Given the description of an element on the screen output the (x, y) to click on. 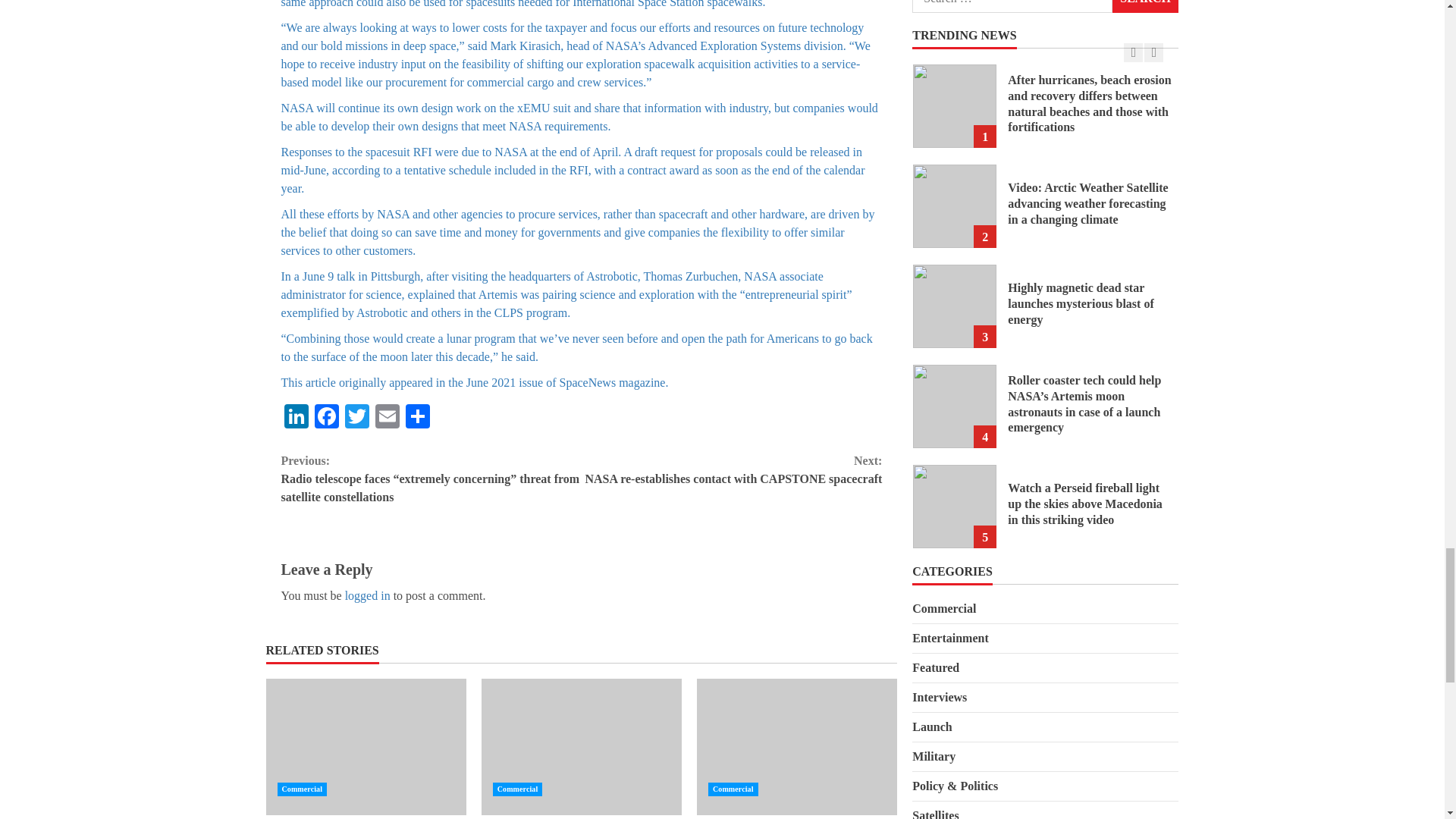
Facebook (325, 418)
LinkedIn (296, 418)
Email (386, 418)
Twitter (355, 418)
